Given the description of an element on the screen output the (x, y) to click on. 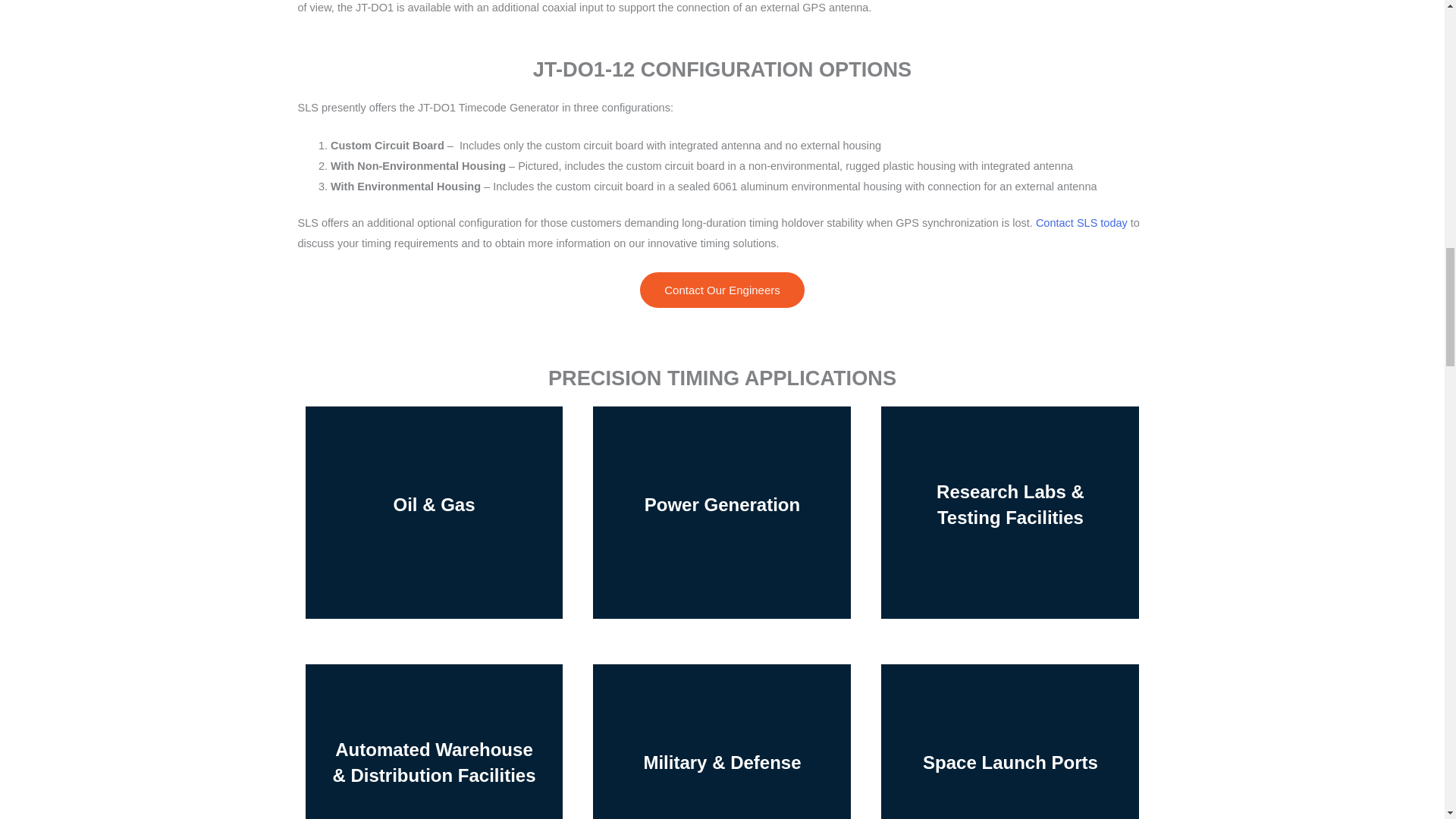
Page 40 (722, 175)
Page 40 (722, 9)
